Given the description of an element on the screen output the (x, y) to click on. 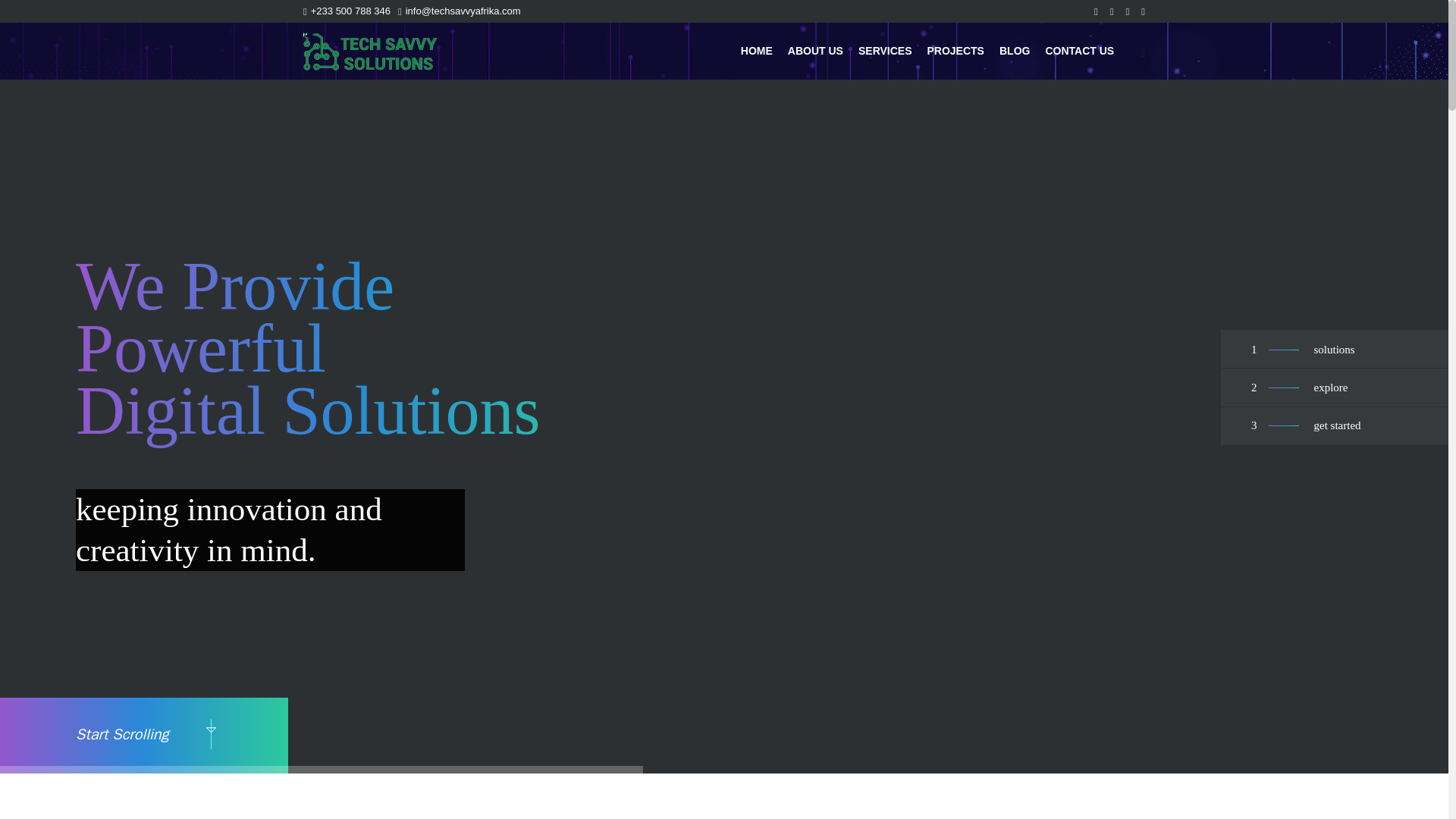
CONTACT US (1078, 50)
ABOUT US (815, 50)
PROJECTS (954, 50)
SERVICES (885, 50)
TechSavvySolutions (369, 50)
